Given the description of an element on the screen output the (x, y) to click on. 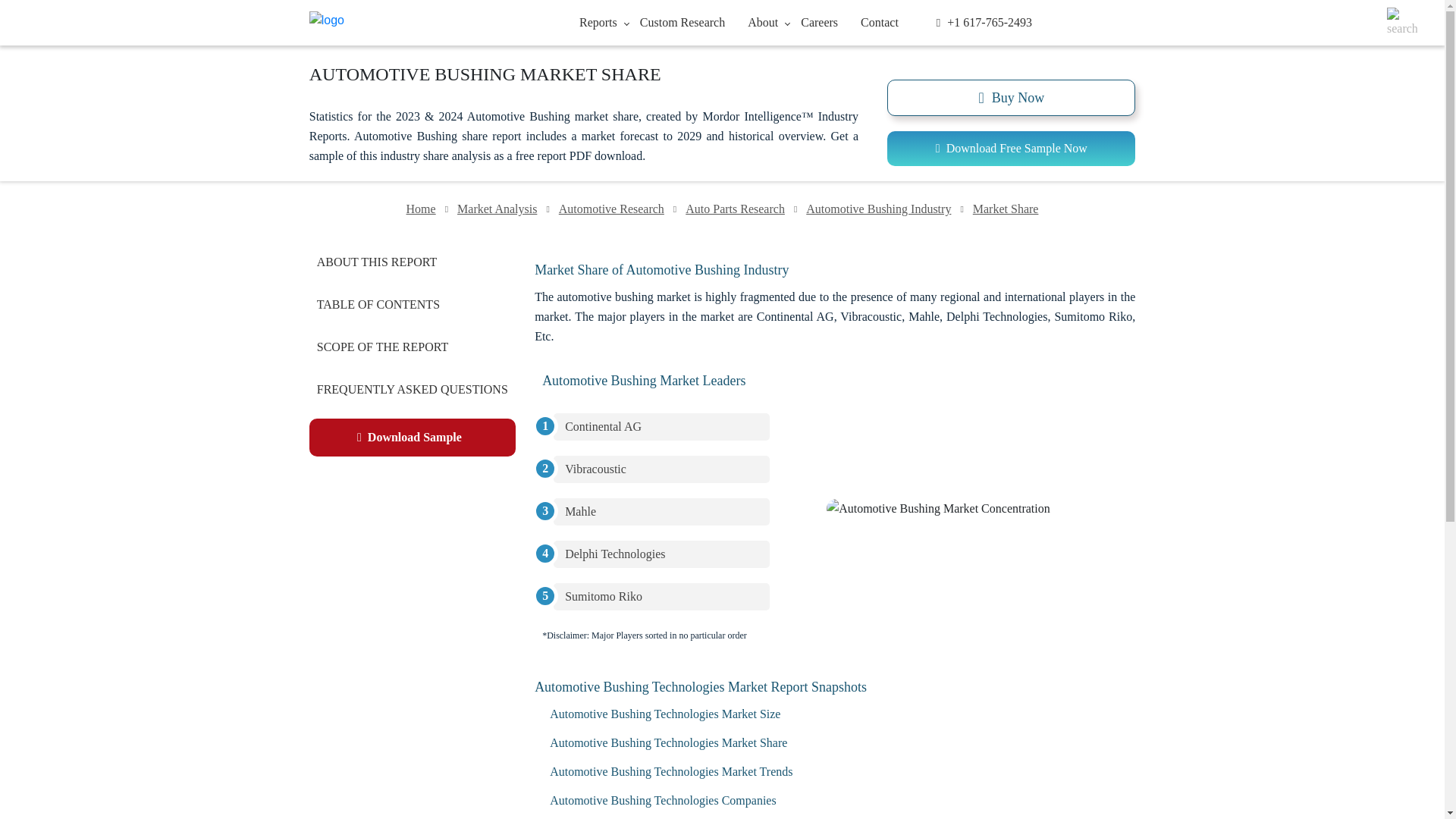
Auto Parts Research (734, 208)
Automotive Research (611, 208)
Contact (879, 21)
Custom Research (682, 21)
Download Free Sample Now (1010, 148)
Reports (598, 21)
Go to Mordor's home page (400, 22)
Buy Now (1010, 97)
Market Share (1005, 208)
Home (421, 208)
About (762, 21)
Careers (819, 21)
Market Analysis (497, 208)
Automotive Bushing Industry (878, 208)
